Given the description of an element on the screen output the (x, y) to click on. 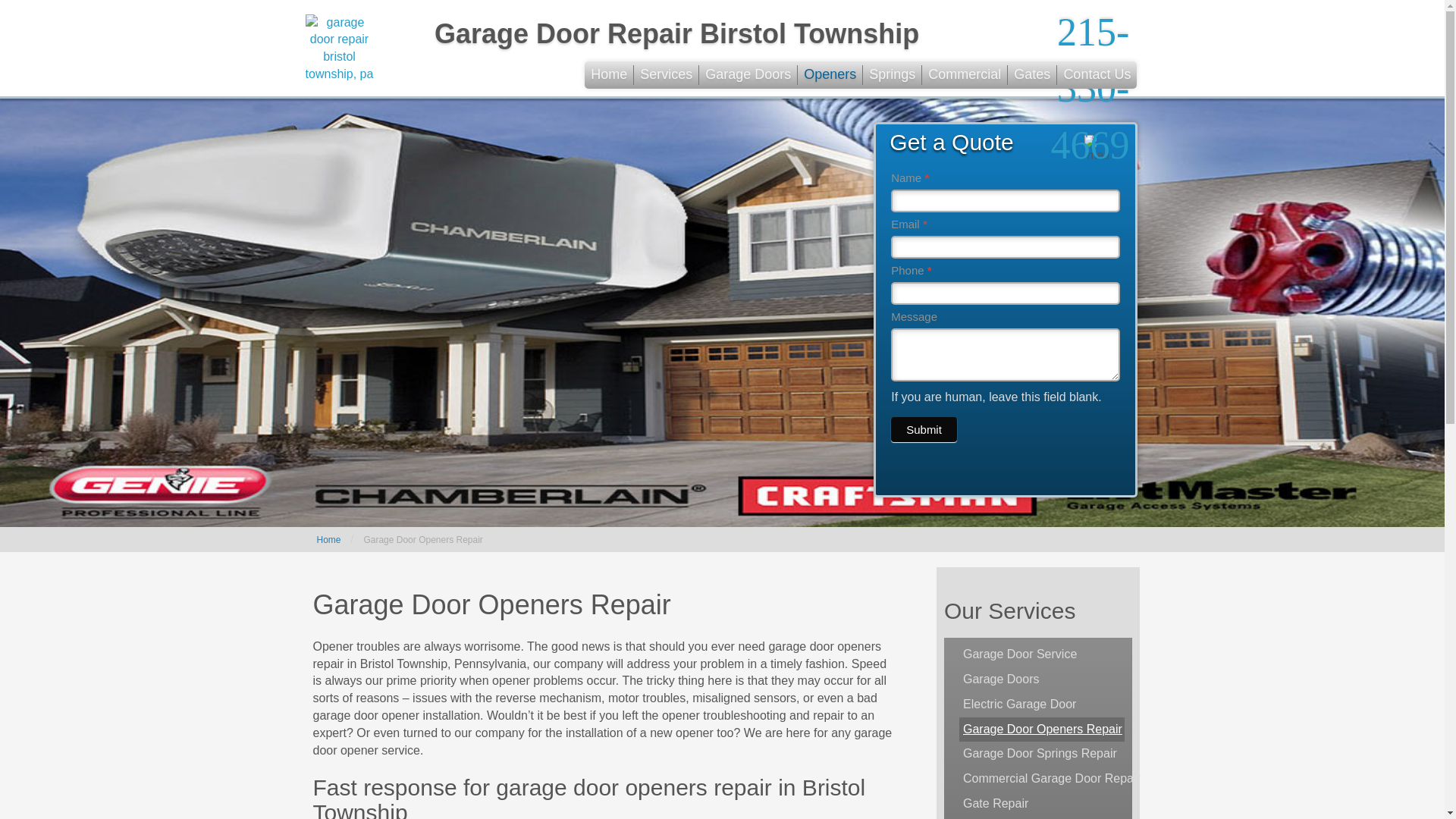
Garage Doors (747, 75)
Garage Door Openers Repair (1041, 729)
Home (328, 539)
Garage Doors (1041, 679)
Electric Garage Door (1041, 704)
Home (609, 75)
Services (665, 75)
Gates (1032, 75)
Garage Door Service (1041, 654)
Contact Us (1097, 75)
